Given the description of an element on the screen output the (x, y) to click on. 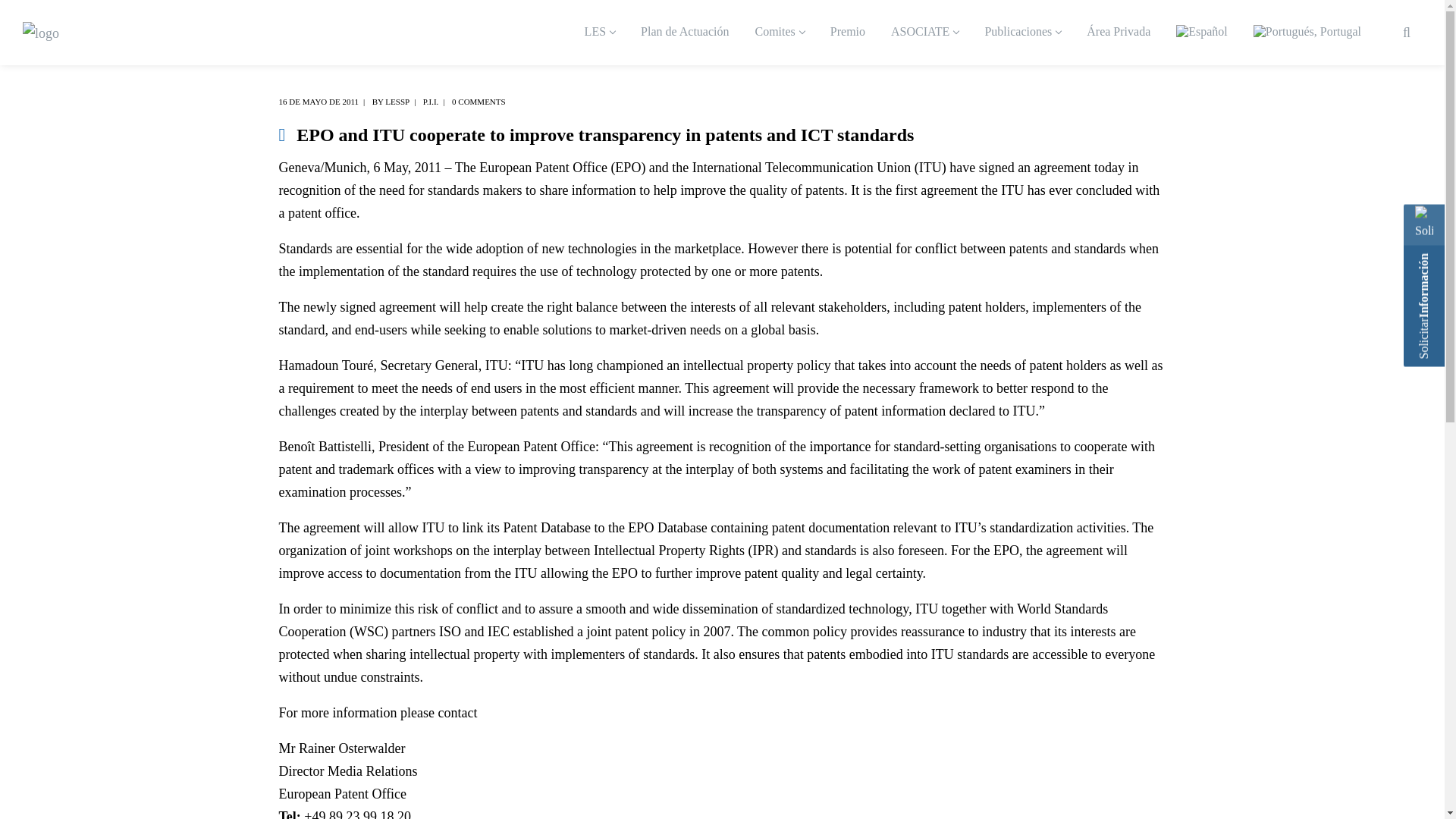
ASOCIATE (925, 32)
Search (1396, 80)
Comites (778, 32)
Publicaciones (1022, 32)
